Given the description of an element on the screen output the (x, y) to click on. 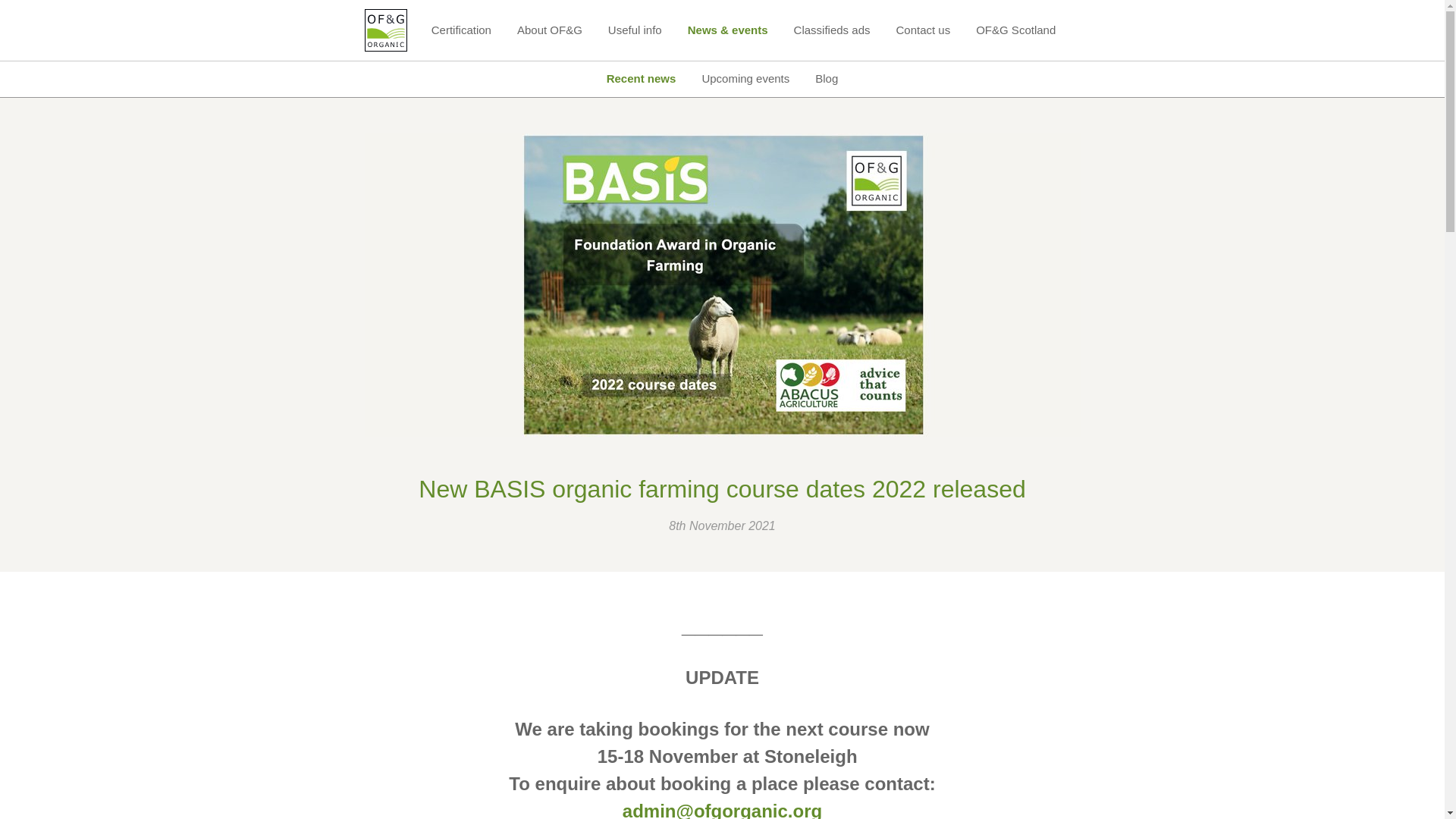
Blog (826, 78)
Classifieds ads (831, 30)
Upcoming events (745, 78)
Useful info (635, 30)
Contact us (922, 30)
Certification (461, 30)
Recent news (641, 78)
